Given the description of an element on the screen output the (x, y) to click on. 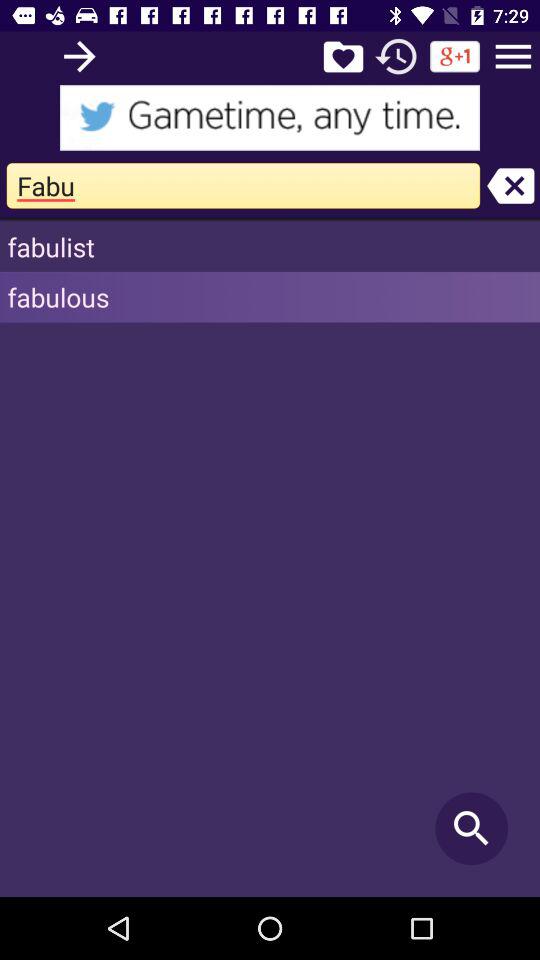
shows search area (270, 117)
